Given the description of an element on the screen output the (x, y) to click on. 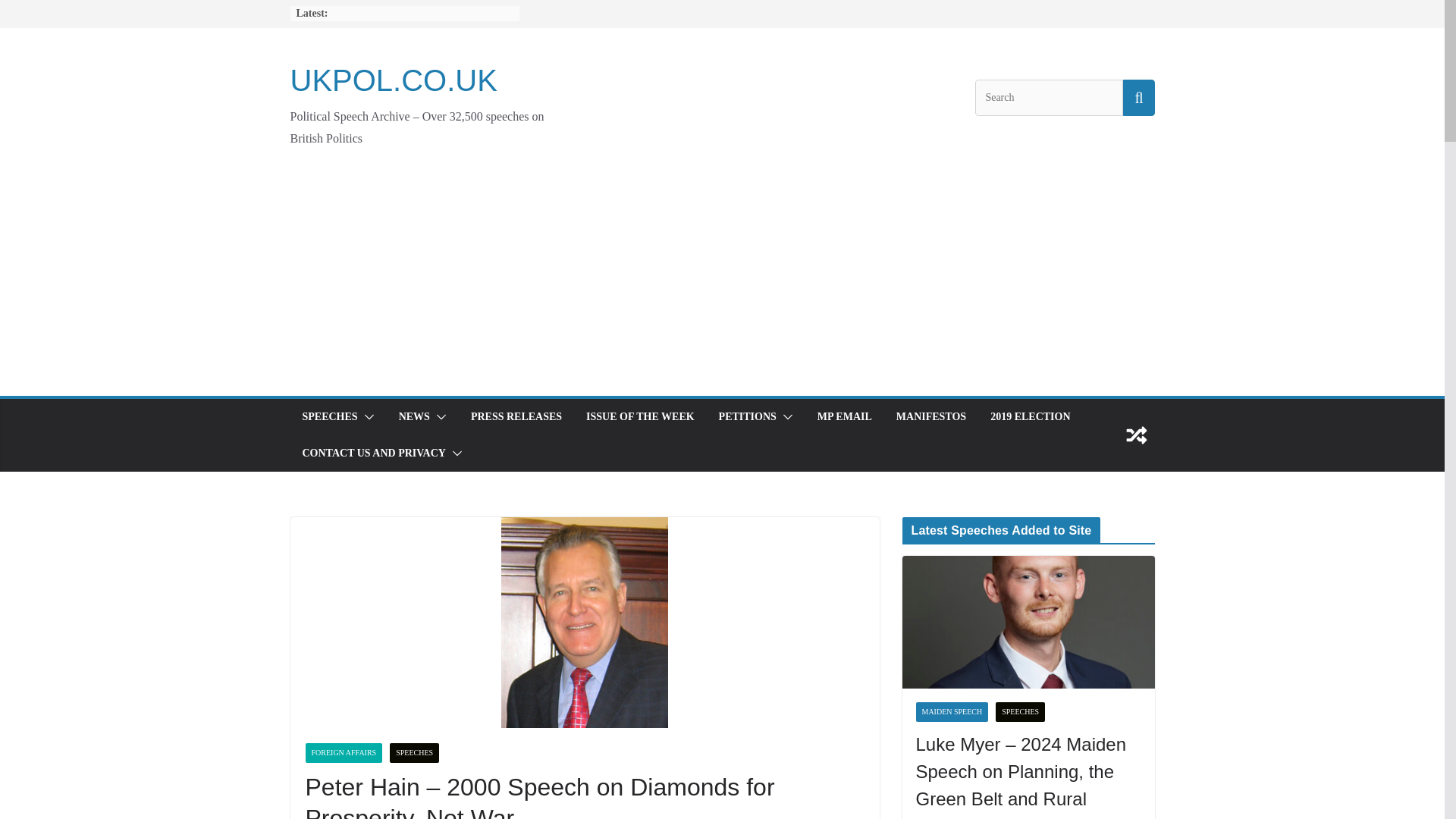
2019 ELECTION (1030, 416)
NEWS (413, 416)
CONTACT US AND PRIVACY (373, 453)
MANIFESTOS (931, 416)
View a random post (1136, 434)
UKPOL.CO.UK (392, 80)
PRESS RELEASES (516, 416)
SPEECHES (414, 752)
ISSUE OF THE WEEK (640, 416)
MP EMAIL (844, 416)
PETITIONS (747, 416)
SPEECHES (328, 416)
FOREIGN AFFAIRS (342, 752)
UKPOL.CO.UK (392, 80)
